Given the description of an element on the screen output the (x, y) to click on. 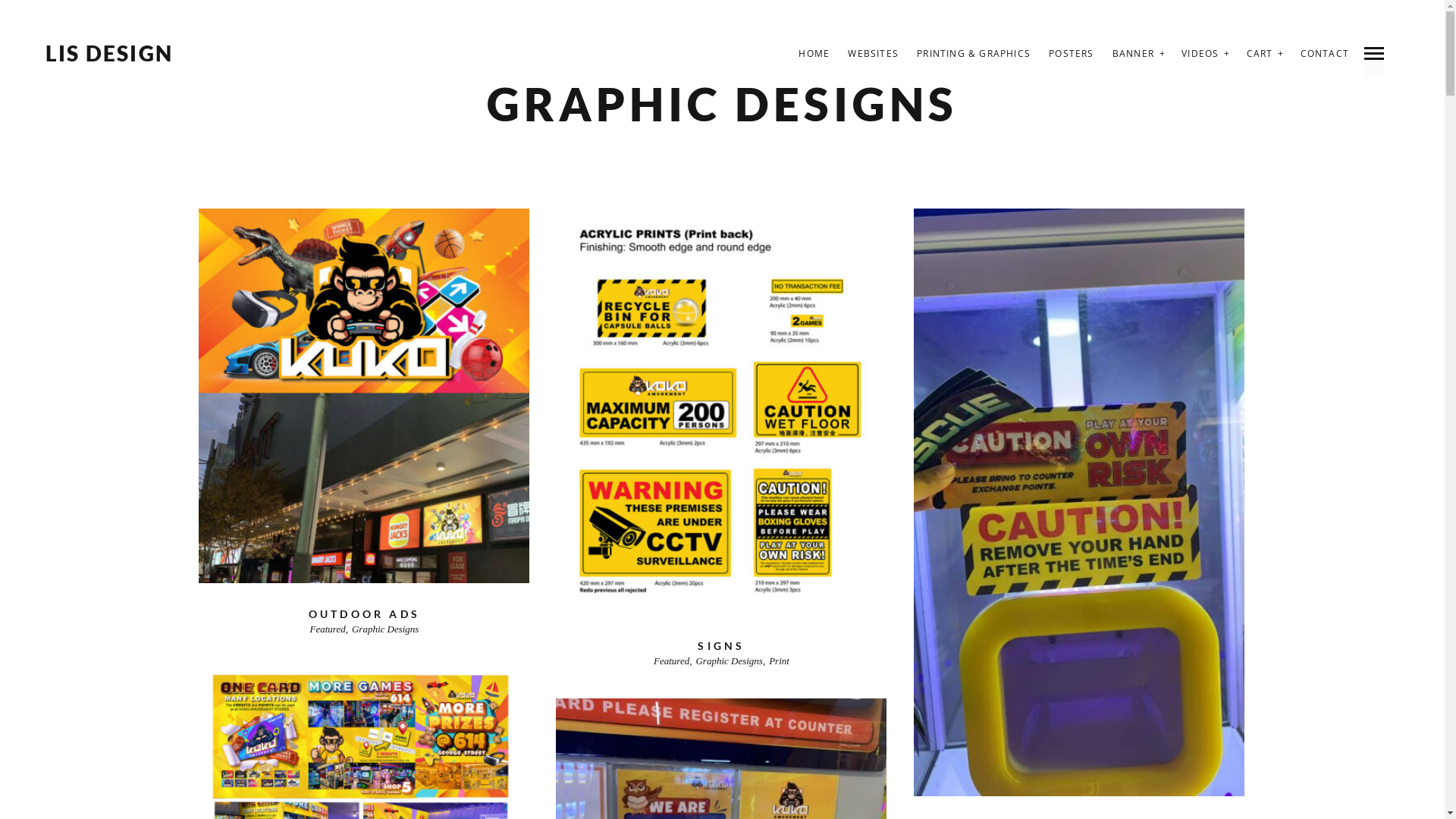
PRINTING & GRAPHICS Element type: text (973, 53)
CART Element type: text (1259, 53)
BANNER Element type: text (1132, 53)
HOME Element type: text (813, 53)
WEBSITES Element type: text (873, 53)
SIGNS
Featured Graphic Designs Print Element type: text (720, 441)
OUTDOOR ADS
Featured Graphic Designs Element type: text (363, 425)
POSTERS Element type: text (1071, 53)
CONTACT Element type: text (1324, 53)
VIDEOS Element type: text (1199, 53)
LIS DESIGN Element type: text (108, 53)
